Given the description of an element on the screen output the (x, y) to click on. 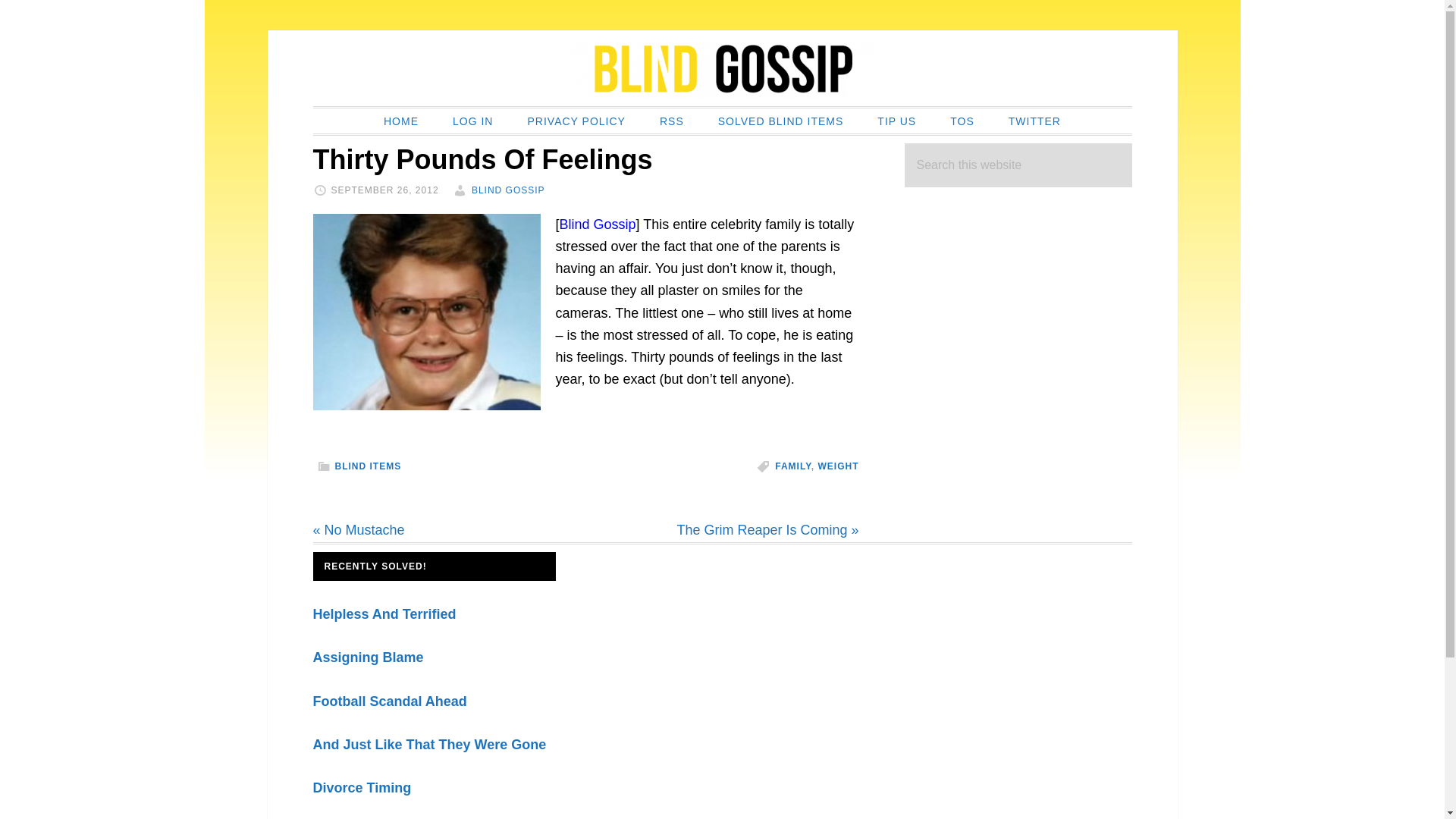
And Just Like That They Were Gone (429, 744)
SOLVED BLIND ITEMS (781, 120)
LOG IN (473, 120)
boy chubby (426, 311)
Helpless And Terrified (384, 613)
Divorce Timing (361, 787)
